Given the description of an element on the screen output the (x, y) to click on. 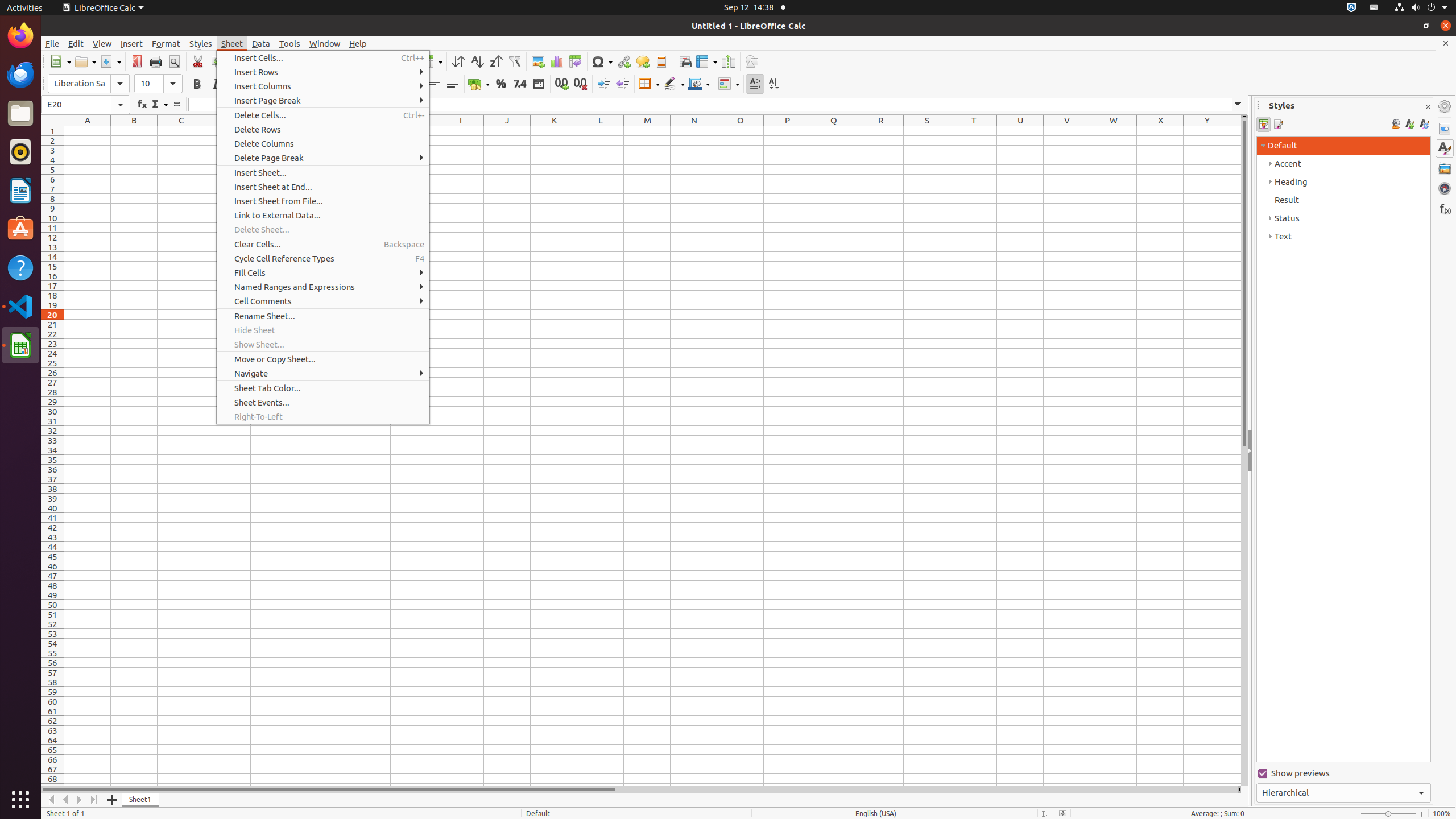
Align Bottom Element type: push-button (452, 83)
Draw Functions Element type: toggle-button (751, 61)
Insert Page Break Element type: menu (322, 100)
Font Name Element type: combo-box (88, 83)
Update Style Element type: push-button (1423, 123)
